Given the description of an element on the screen output the (x, y) to click on. 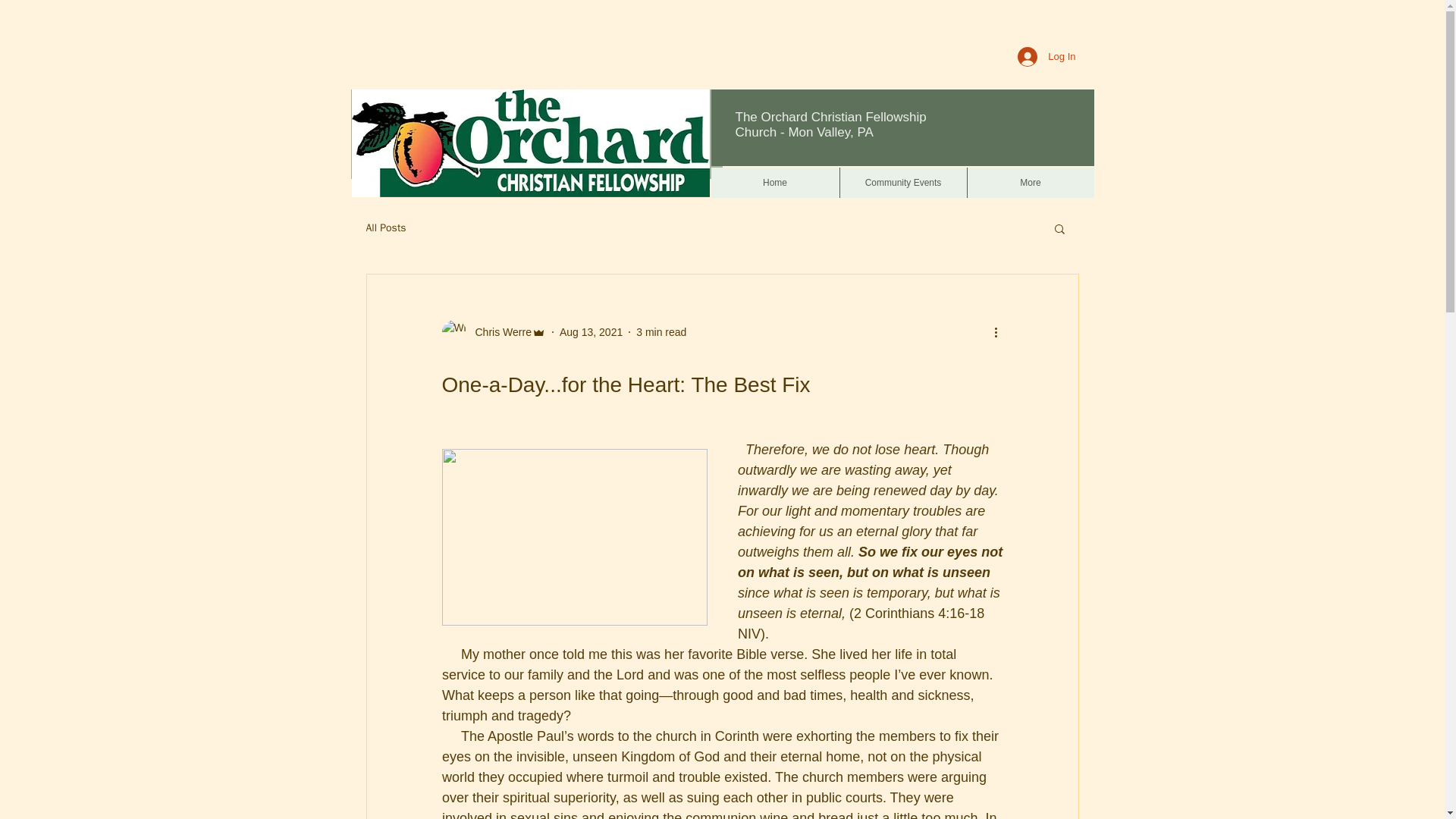
All Posts (385, 228)
Community Events (902, 182)
Log In (1046, 56)
Aug 13, 2021 (591, 331)
Home (775, 182)
Chris Werre (498, 332)
Chris Werre (492, 331)
3 min read (660, 331)
